Given the description of an element on the screen output the (x, y) to click on. 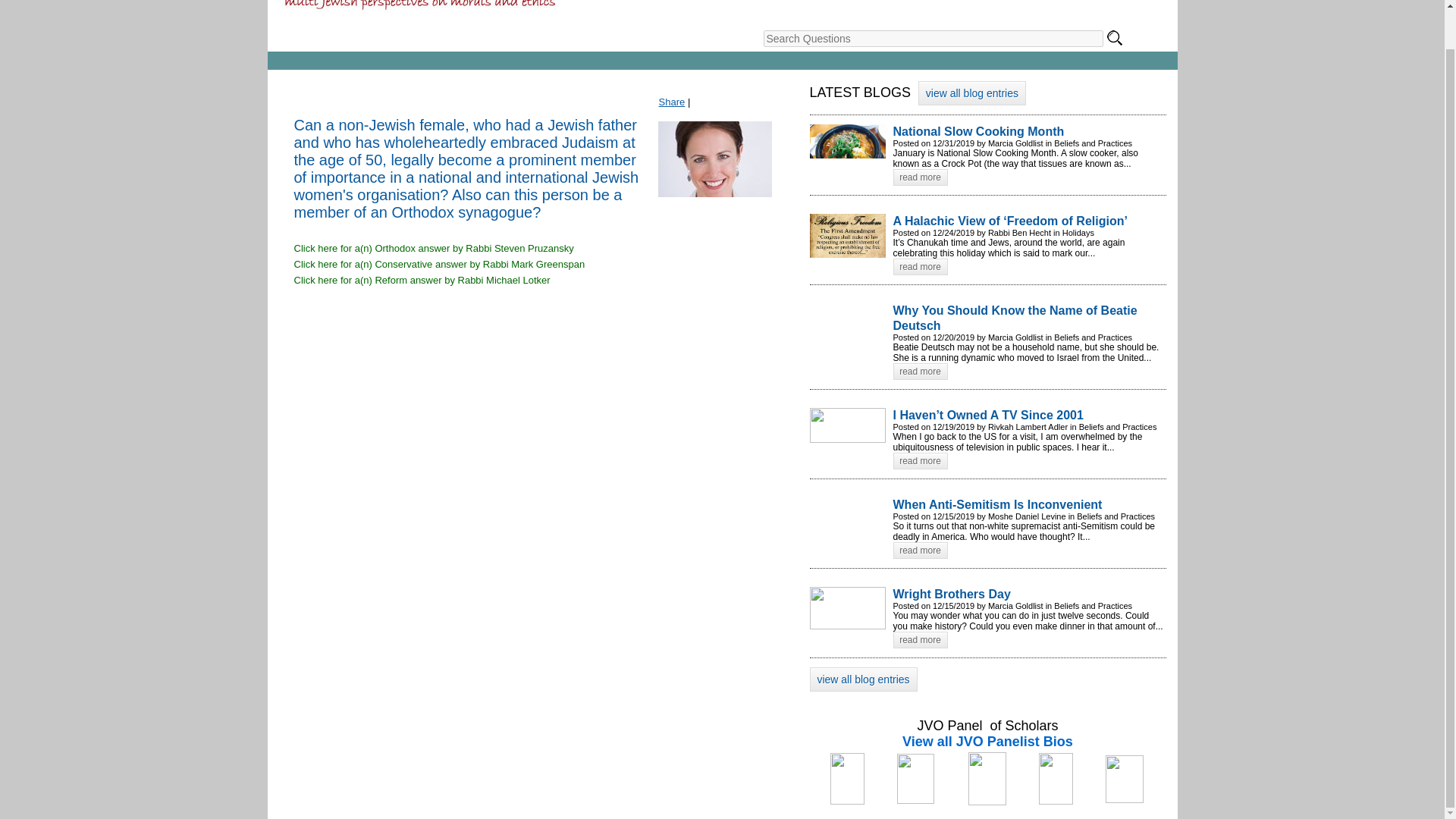
read more (920, 176)
read more (920, 266)
read more (920, 460)
read more (920, 550)
view all blog entries (972, 93)
Share (672, 101)
read more (920, 371)
Wright Brothers Day (1029, 594)
National Slow Cooking Month (1029, 131)
View all JVO Panelist Bios (987, 741)
read more (920, 639)
view all blog entries (863, 679)
Why You Should Know the Name of Beatie Deutsch (1029, 317)
When Anti-Semitism Is Inconvenient (1029, 504)
